Given the description of an element on the screen output the (x, y) to click on. 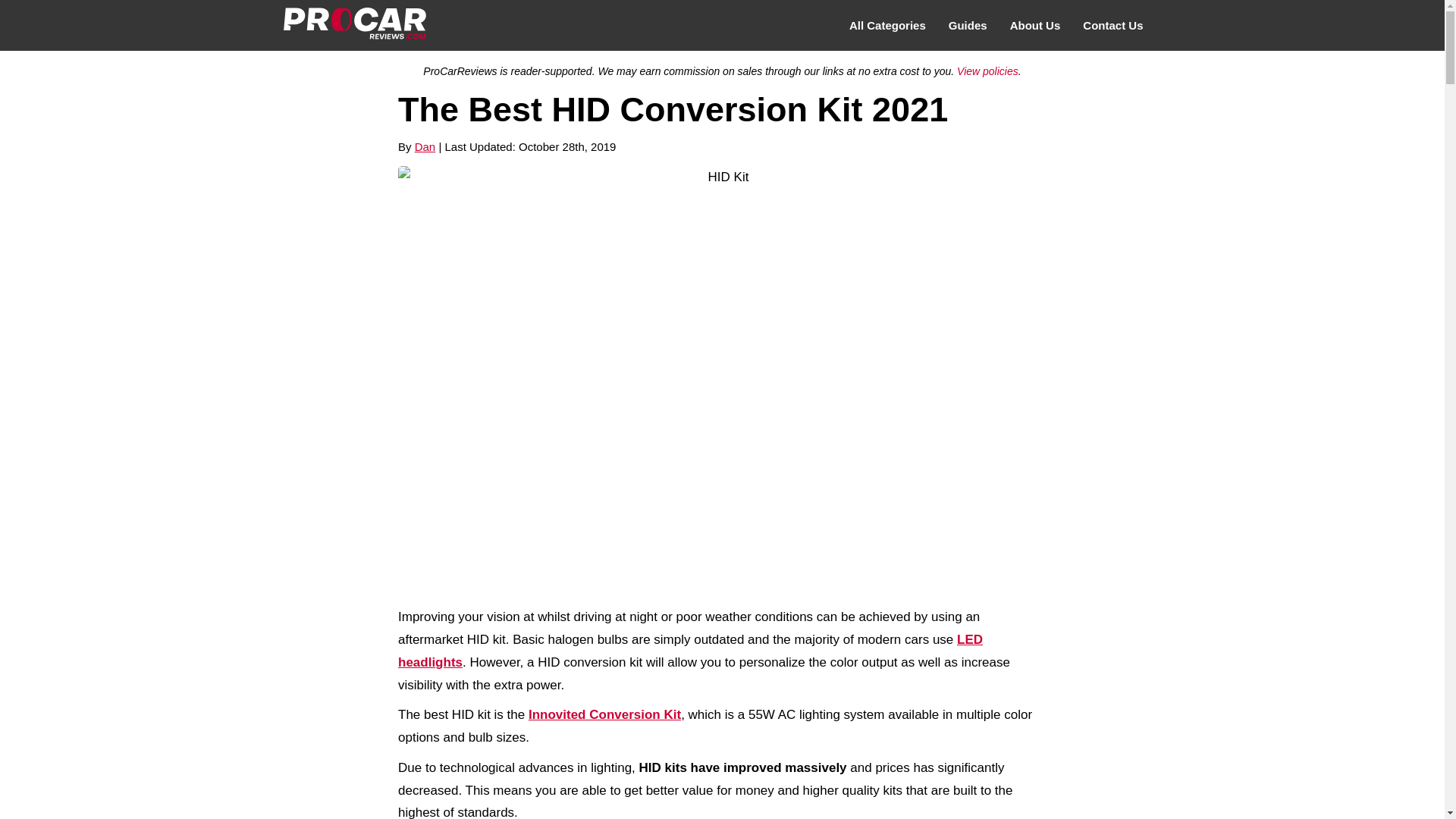
Dan (424, 146)
ProCarReviews Disclosure (986, 70)
categories (887, 25)
about (1034, 25)
guides (967, 25)
Posts by Dan (424, 146)
View policies (986, 70)
contact (1112, 25)
All Categories (887, 25)
LED headlights (689, 650)
